Given the description of an element on the screen output the (x, y) to click on. 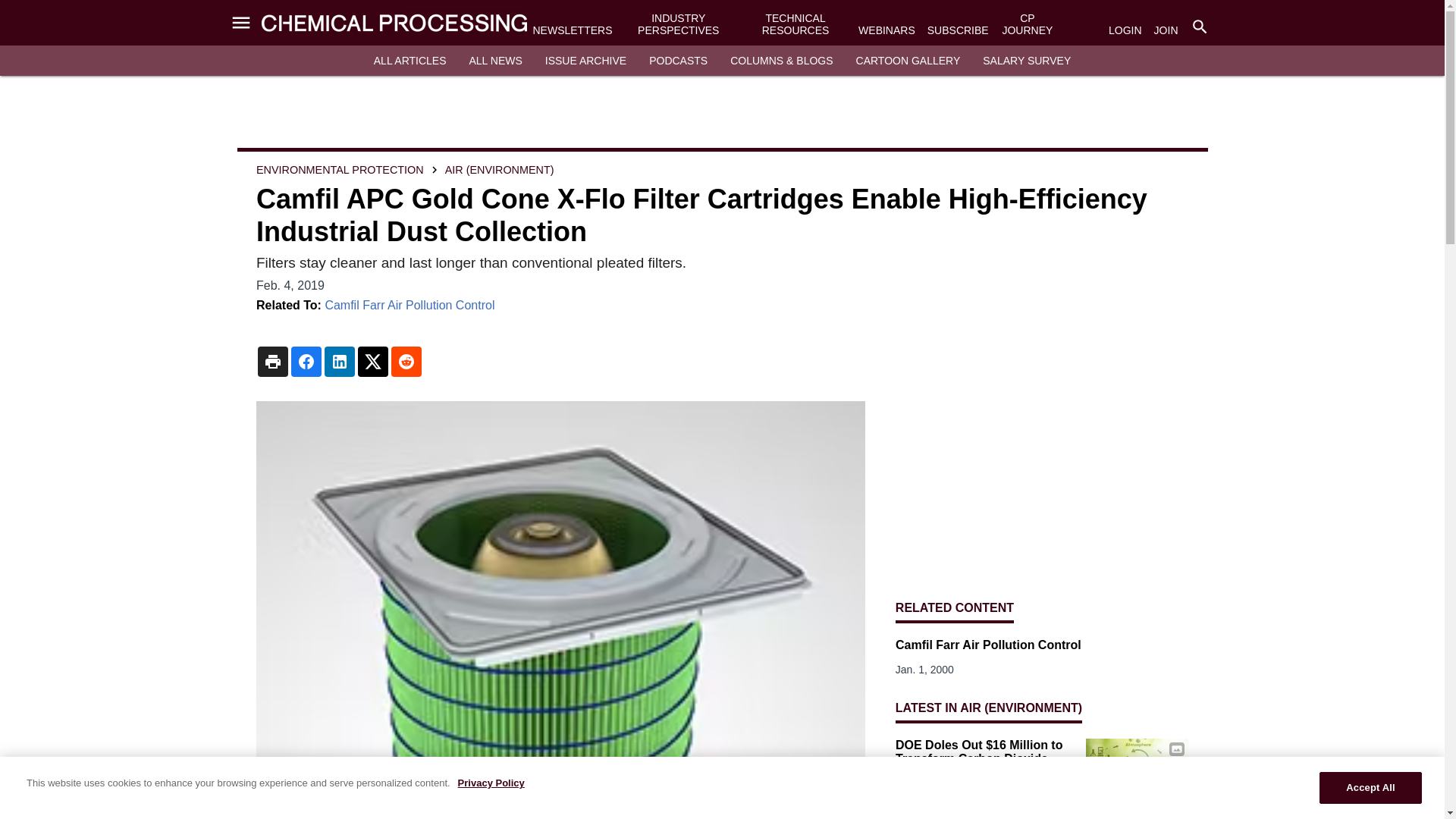
PODCASTS (678, 60)
SUBSCRIBE (957, 30)
NEWSLETTERS (571, 30)
TECHNICAL RESOURCES (795, 24)
LOGIN (1124, 30)
ALL ARTICLES (410, 60)
INDUSTRY PERSPECTIVES (678, 24)
SALARY SURVEY (1026, 60)
WEBINARS (887, 30)
